Given the description of an element on the screen output the (x, y) to click on. 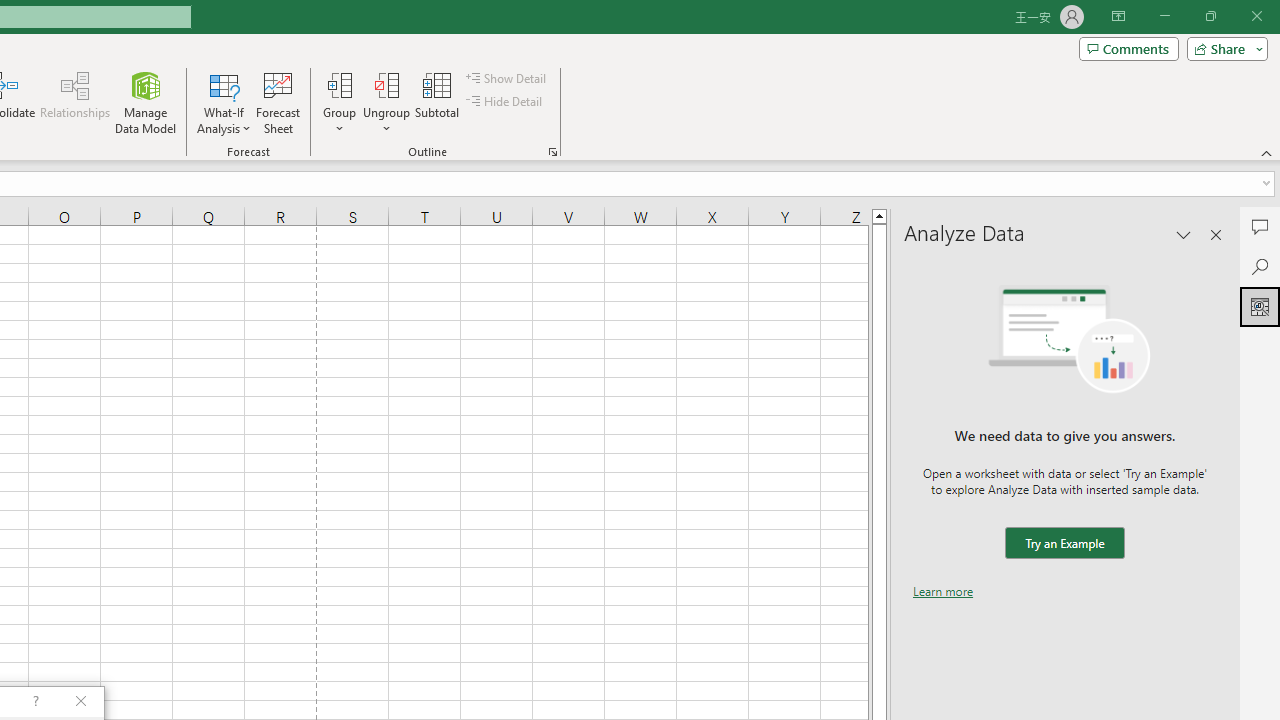
Analyze Data (1260, 306)
Relationships (75, 102)
Close pane (1215, 234)
What-If Analysis (223, 102)
Show Detail (507, 78)
Search (1260, 266)
Task Pane Options (1183, 234)
We need data to give you answers. Try an Example (1064, 543)
Hide Detail (505, 101)
